Given the description of an element on the screen output the (x, y) to click on. 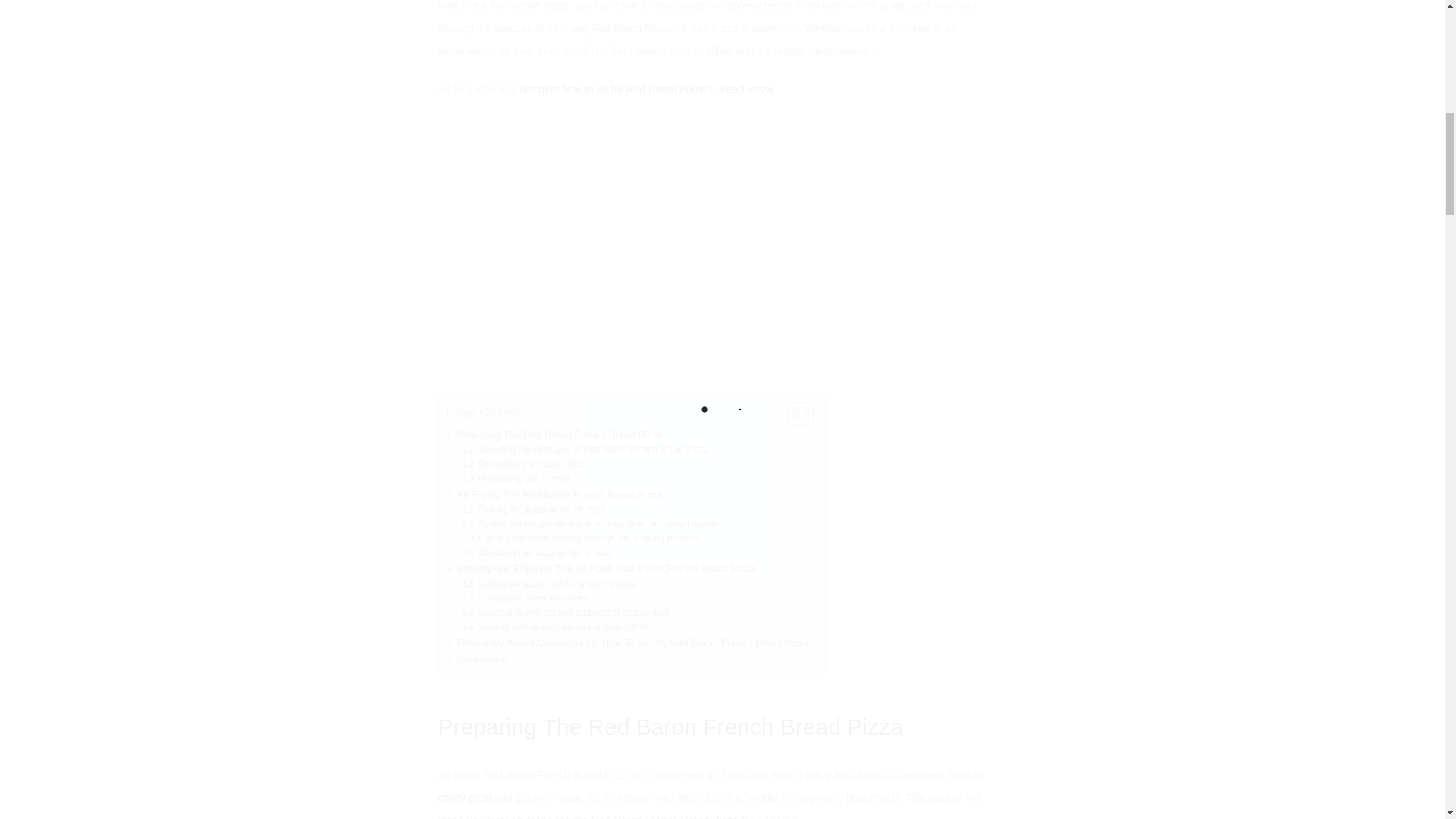
Garnishing with desired toppings or seasonings (564, 612)
crispy crust (465, 797)
Serving with dipping sauces or side dishes (555, 626)
Letting the pizza cool for a few minutes (547, 584)
Serving with dipping sauces or side dishes (555, 626)
Checking the pizza for doneness (535, 553)
Checking the pizza for doneness (535, 553)
Preparing The Red Baron French Bread Pizza (553, 434)
